Given the description of an element on the screen output the (x, y) to click on. 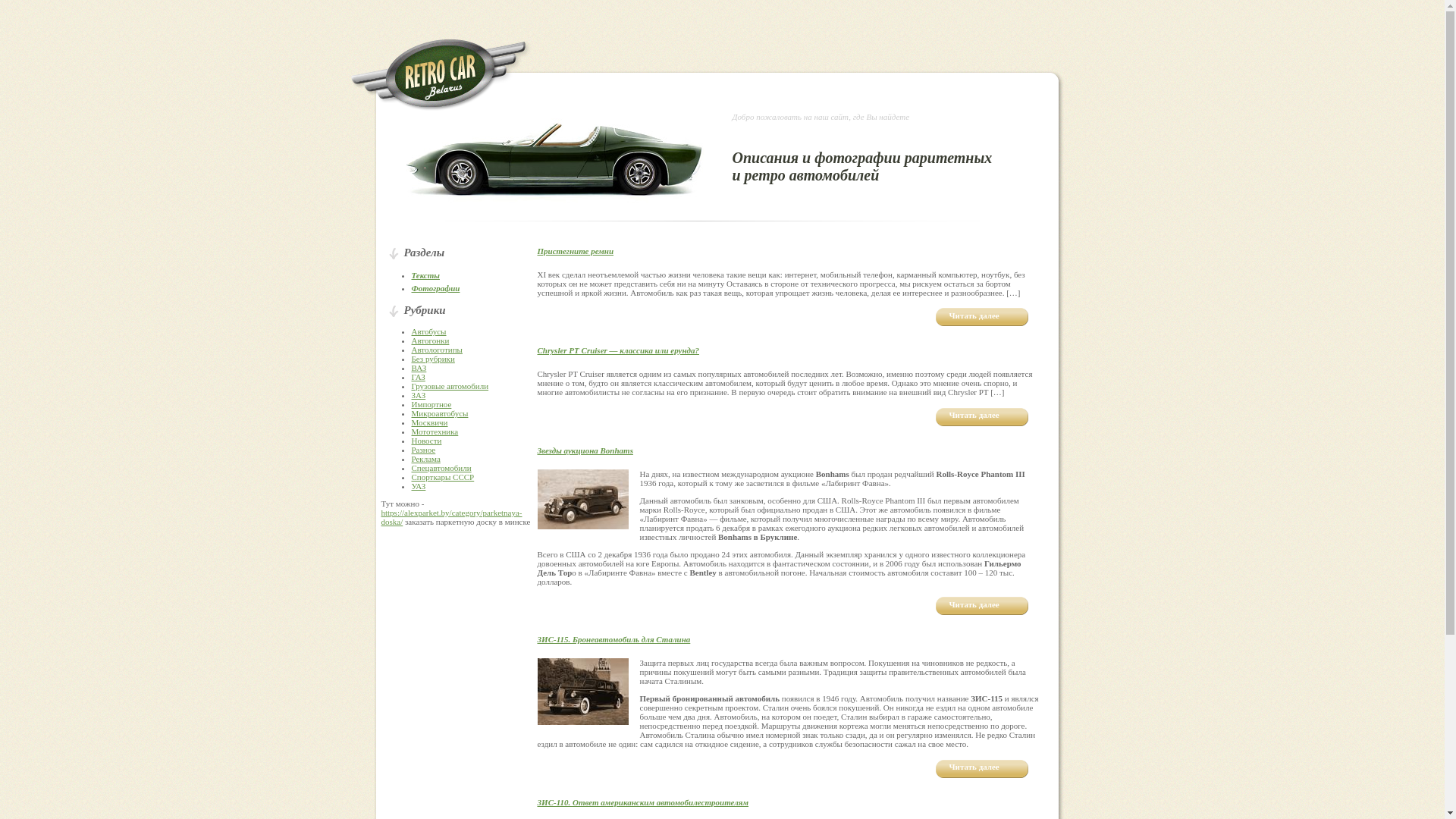
https://alexparket.by/category/parketnaya-doska/ Element type: text (450, 517)
